Given the description of an element on the screen output the (x, y) to click on. 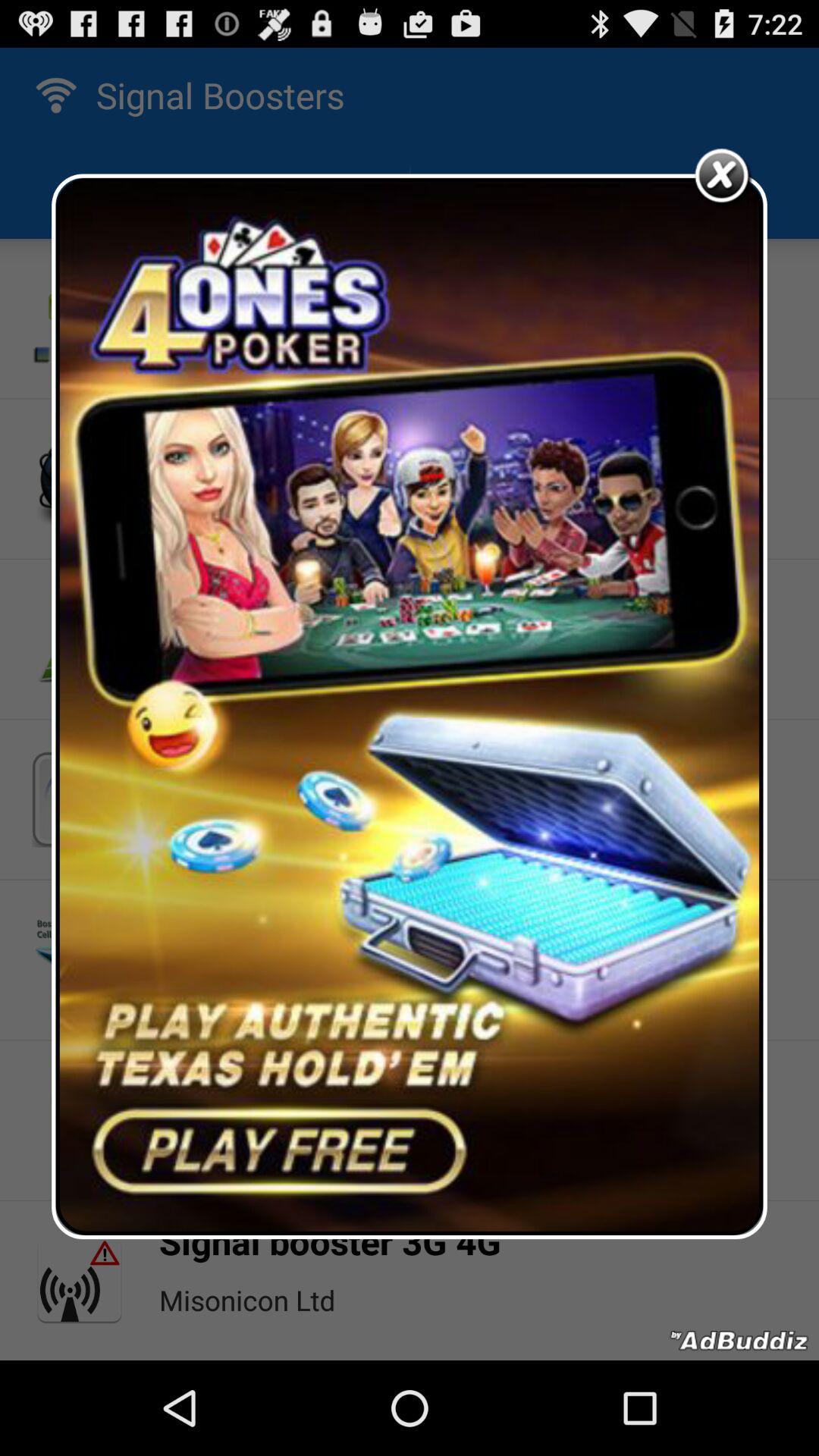
link to advertisement (409, 706)
